Given the description of an element on the screen output the (x, y) to click on. 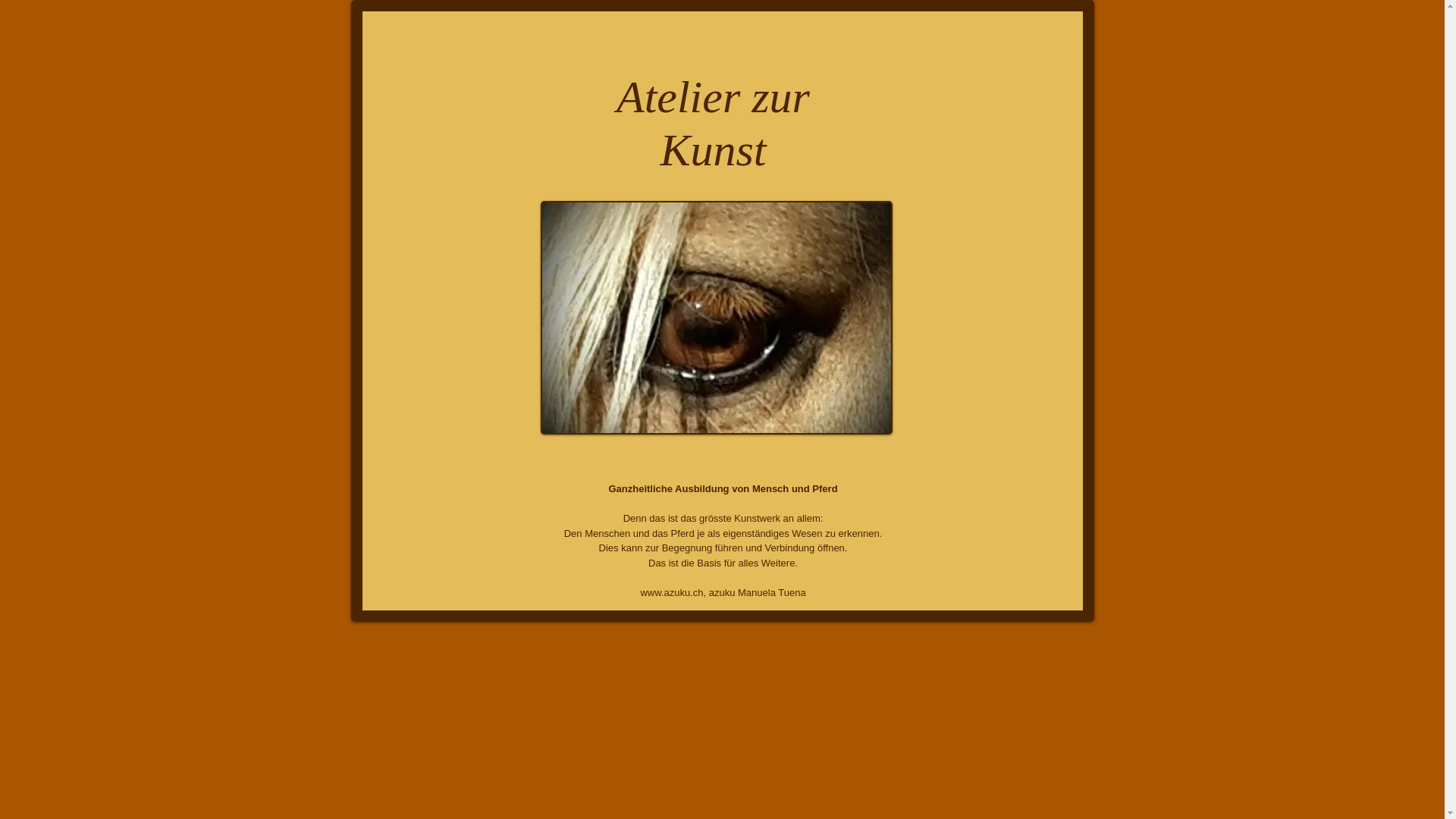
Atelier zur Kunst Element type: text (712, 123)
www.azuku.ch Element type: text (671, 592)
